Given the description of an element on the screen output the (x, y) to click on. 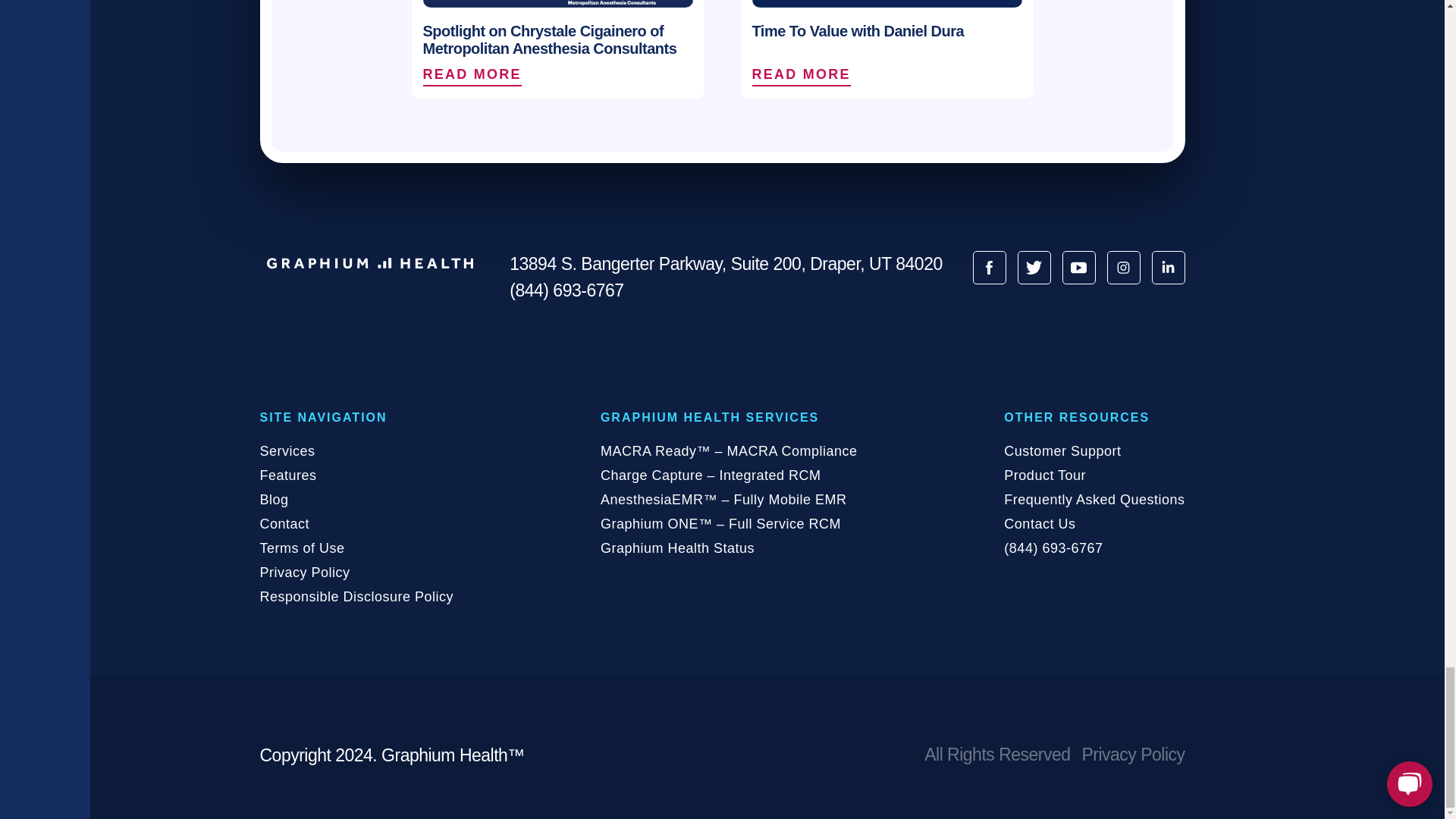
Instagram (1123, 267)
Linkedin (1168, 267)
YouTube (1077, 267)
READ MORE (558, 74)
READ MORE (804, 74)
Facebook (989, 267)
Time To Value with Daniel Dura (887, 26)
Twitter (1034, 267)
READ MORE (474, 74)
READ MORE (887, 74)
